Given the description of an element on the screen output the (x, y) to click on. 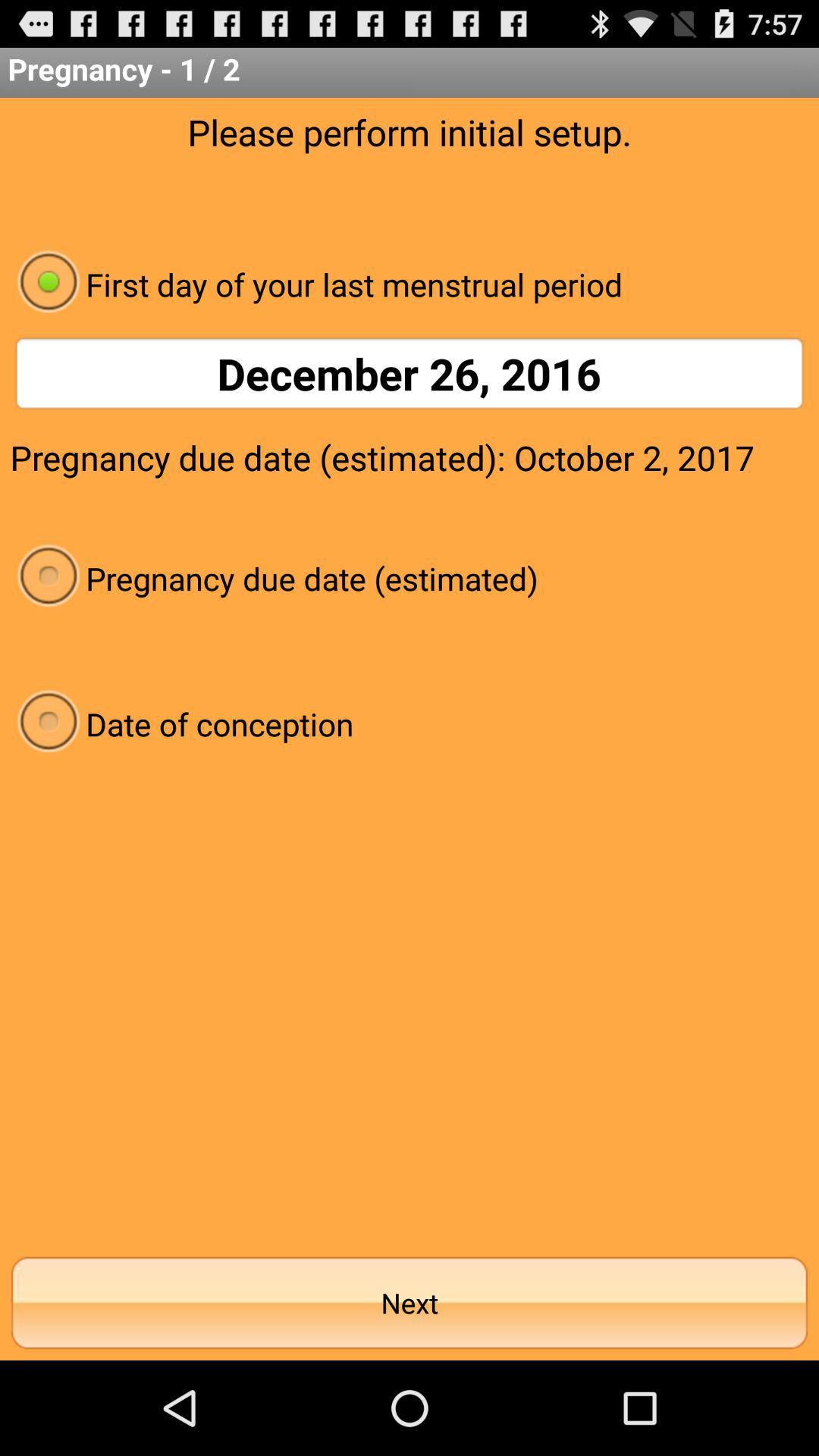
select the next at the bottom (409, 1302)
